Given the description of an element on the screen output the (x, y) to click on. 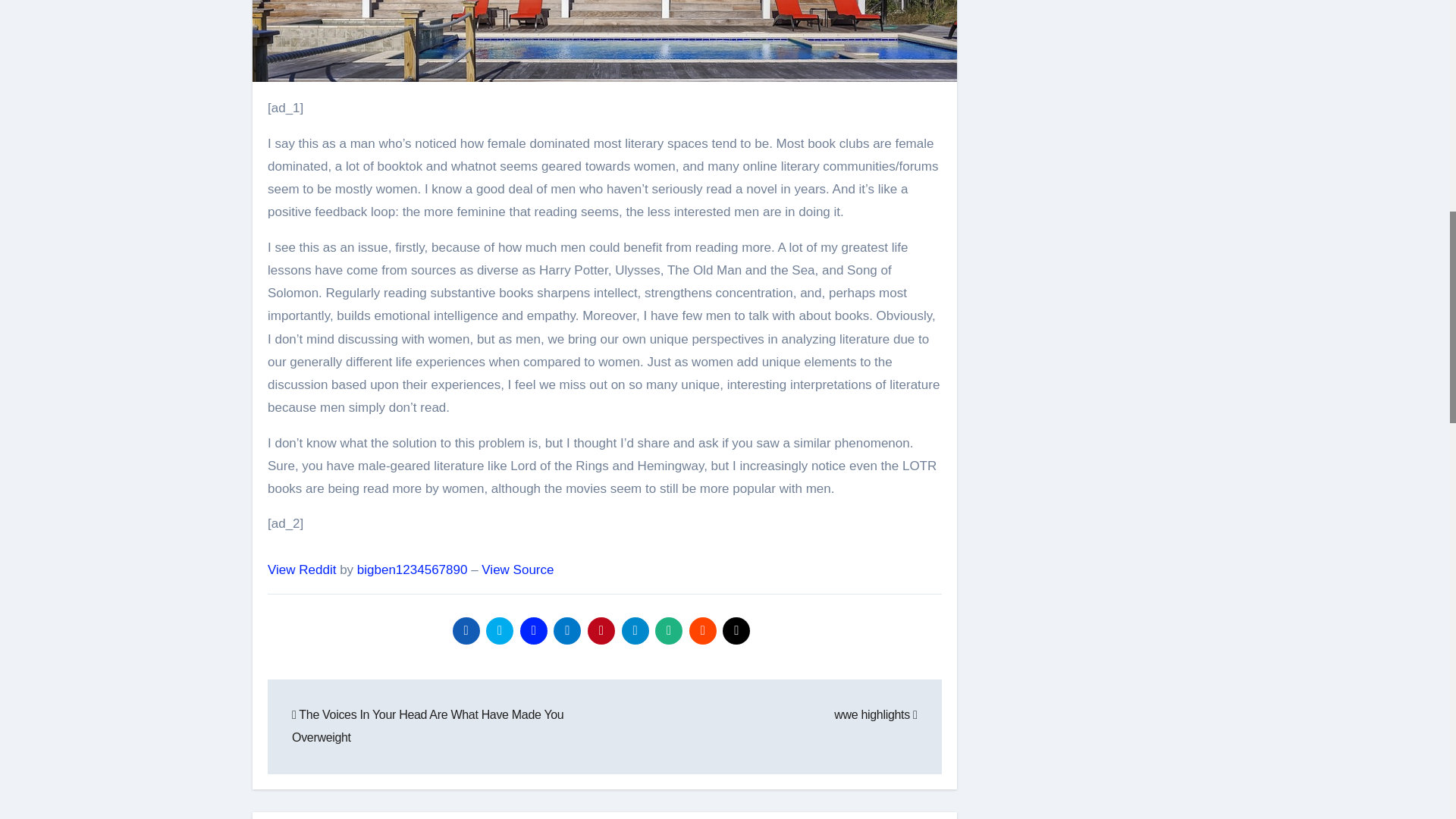
The Voices In Your Head Are What Have Made You Overweight (427, 725)
bigben1234567890 (411, 569)
View Source (517, 569)
wwe highlights (875, 714)
View Reddit (301, 569)
